Given the description of an element on the screen output the (x, y) to click on. 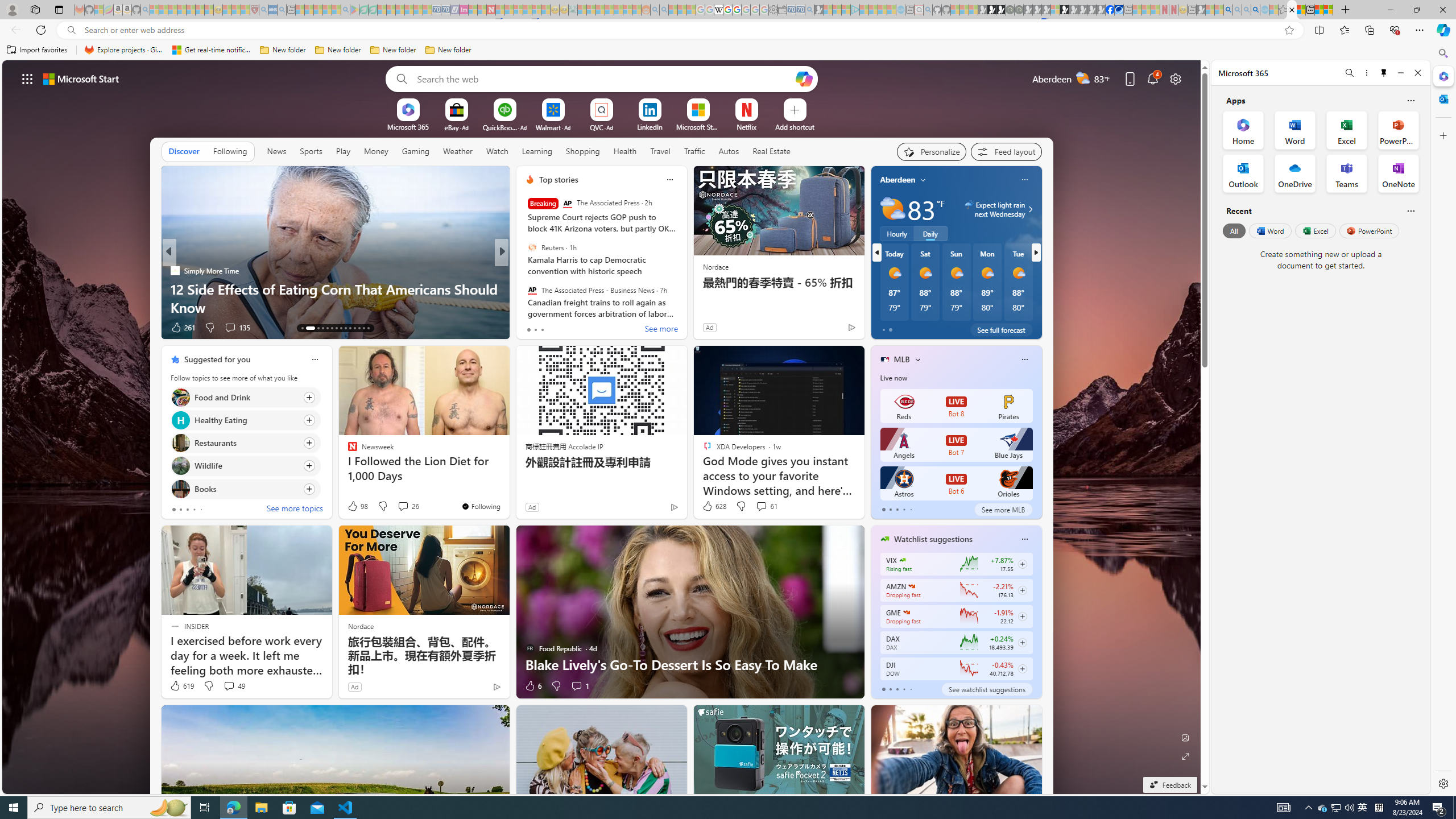
Teams Office App (1346, 172)
2k Like (530, 327)
Pets - MSN - Sleeping (326, 9)
Click to follow topic Food and Drink (245, 397)
Food and Drink (180, 397)
6 Like (532, 685)
CNBC (524, 270)
Traffic (694, 151)
Microsoft start (81, 78)
View comments 31 Comment (580, 327)
Microsoft account | Privacy (1328, 9)
Suggested for you (216, 359)
Astros LIVE Bot 6 Orioles (955, 483)
View comments 67 Comment (581, 327)
